Given the description of an element on the screen output the (x, y) to click on. 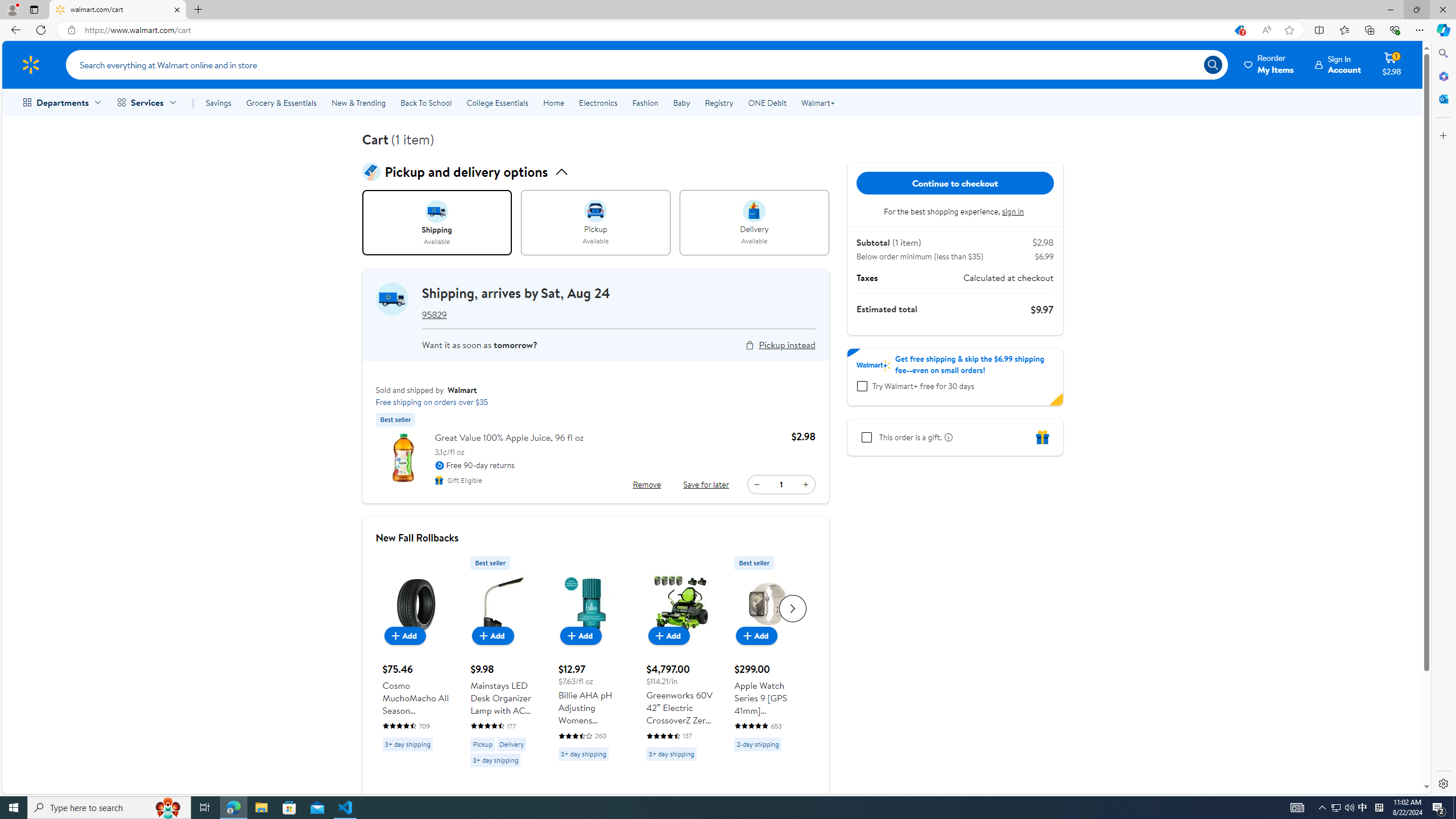
Sign InAccount (1338, 64)
sign in (1013, 211)
Grocery & Essentials (280, 102)
intent image for shipping (436, 210)
Registry (718, 102)
Baby (681, 102)
